Given the description of an element on the screen output the (x, y) to click on. 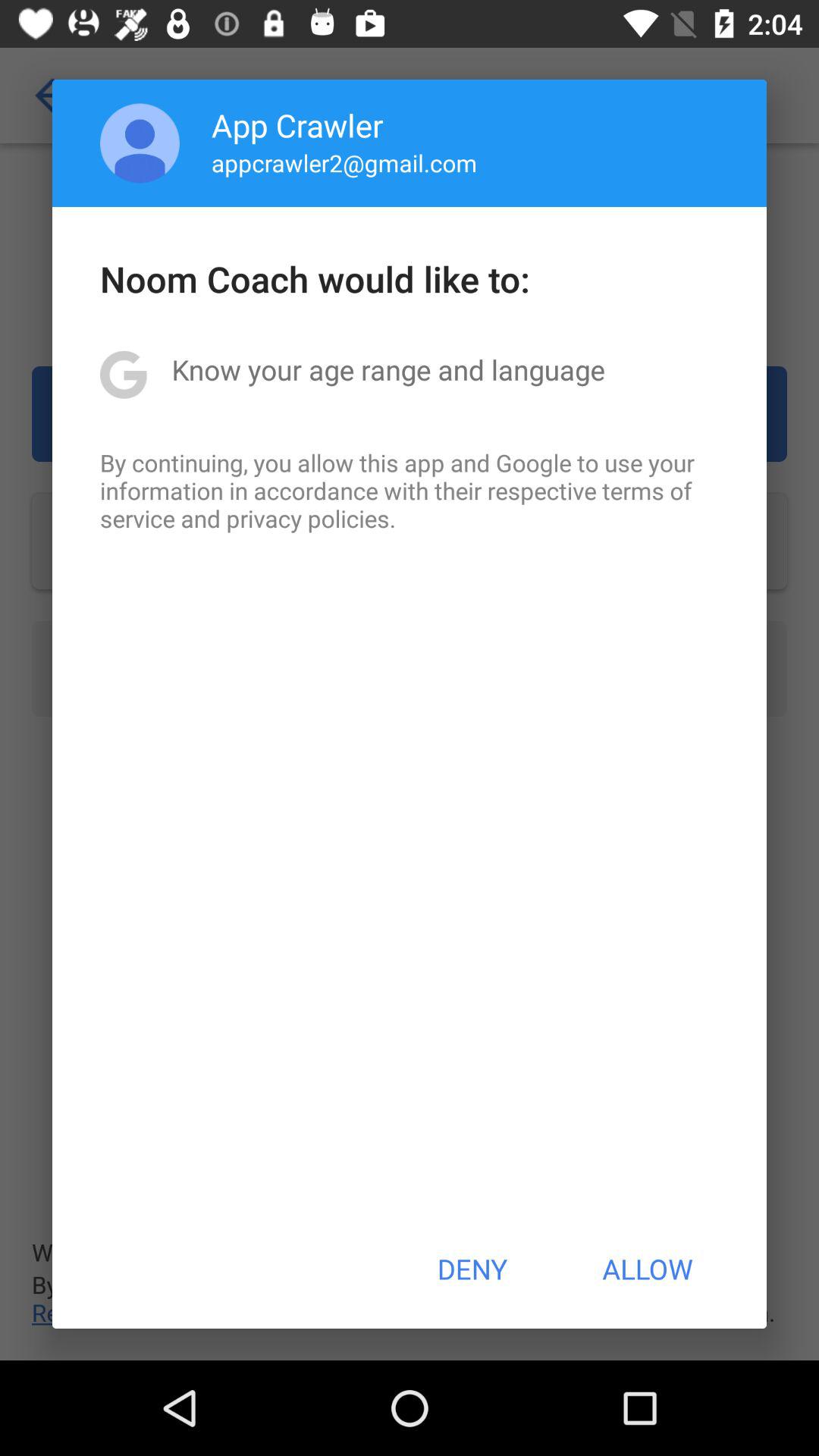
select the icon next to allow button (471, 1268)
